Given the description of an element on the screen output the (x, y) to click on. 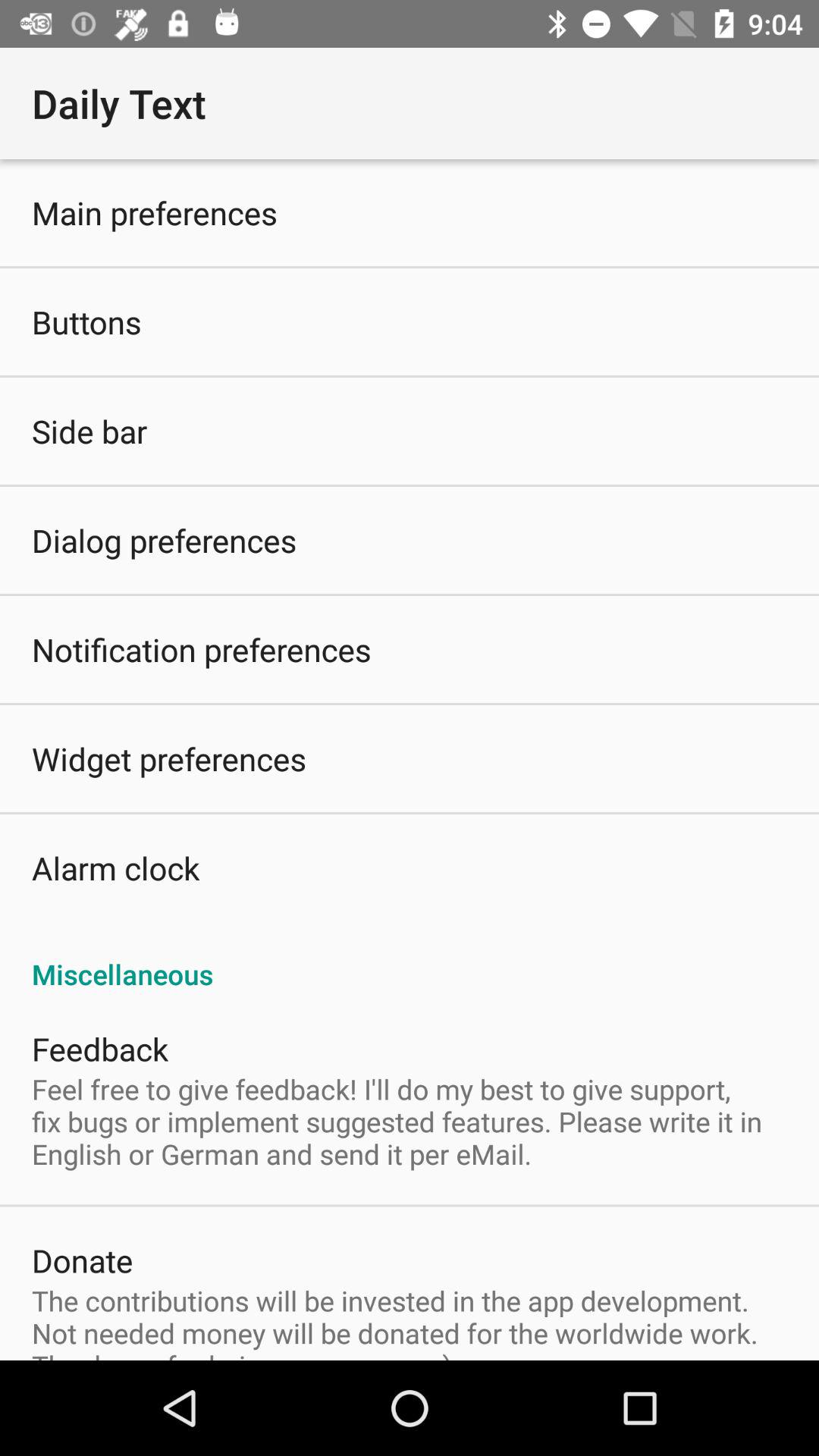
launch donate icon (82, 1259)
